Given the description of an element on the screen output the (x, y) to click on. 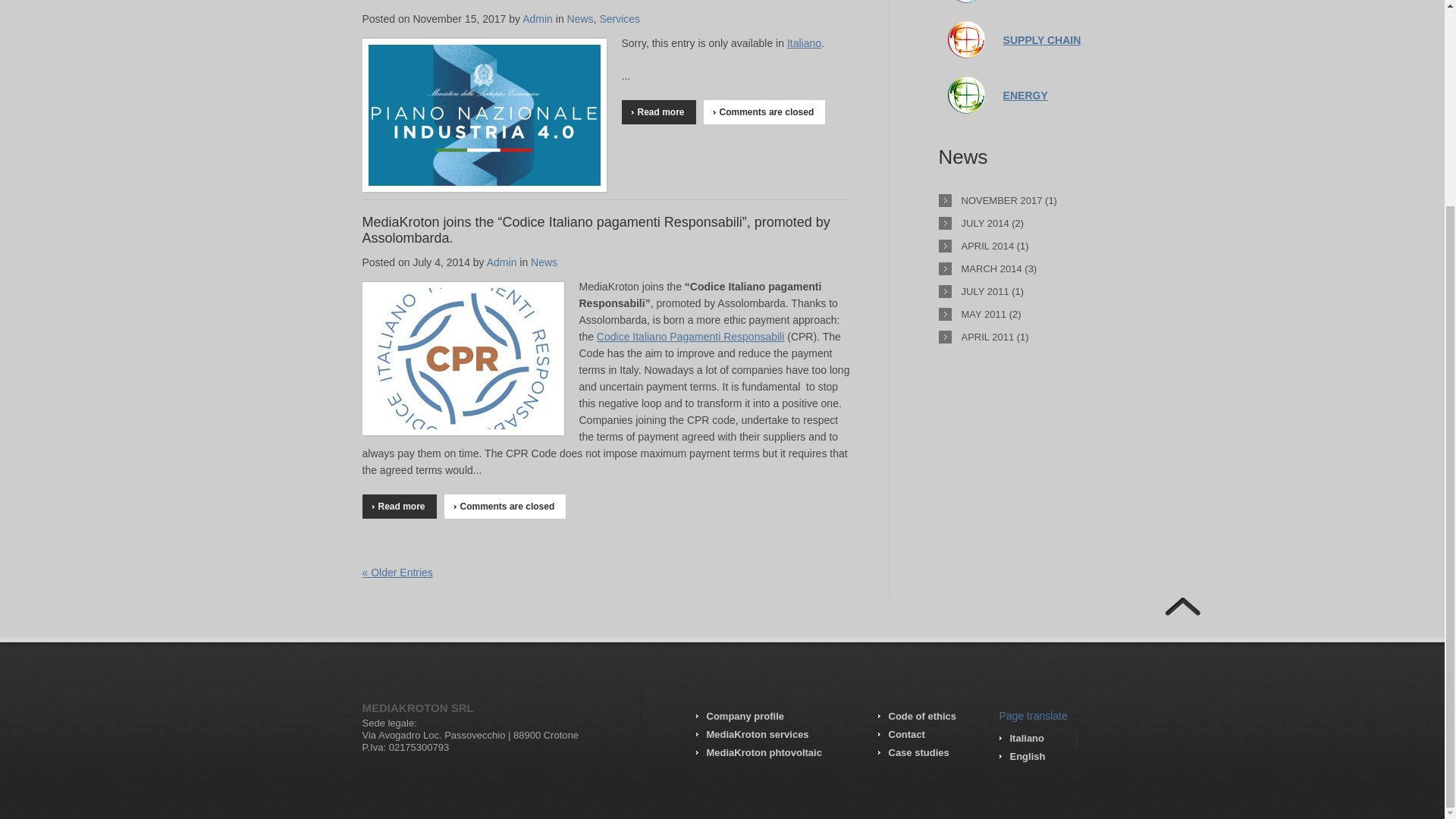
Posts by admin (501, 262)
Piano Nazionale Industria 4.0 (451, 1)
Energy (966, 84)
Services (619, 19)
Supply Chain (1042, 39)
News (580, 19)
Posts by admin (537, 19)
Supply Chain (966, 29)
Piano Nazionale Industria 4.0 (451, 1)
Admin (537, 19)
Italiano (804, 42)
Read more (658, 111)
Energy (1025, 95)
